Given the description of an element on the screen output the (x, y) to click on. 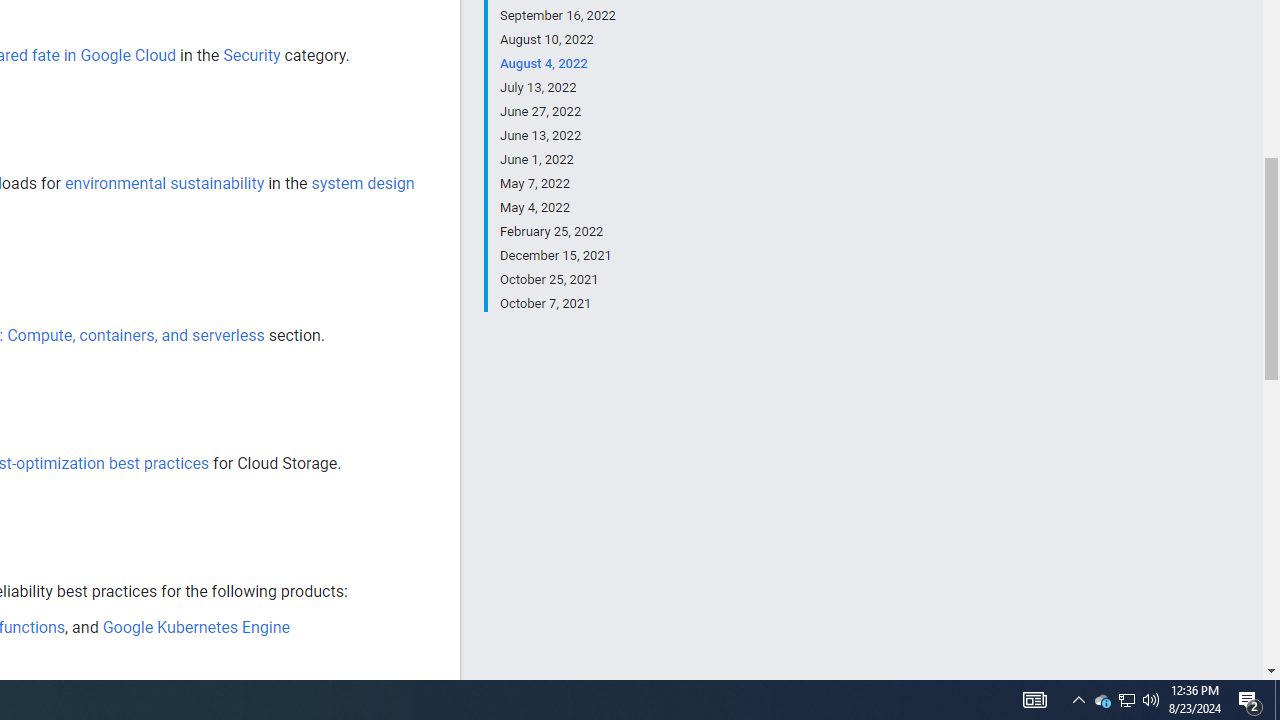
August 10, 2022 (557, 39)
October 25, 2021 (557, 279)
Google Kubernetes Engine (196, 627)
